Given the description of an element on the screen output the (x, y) to click on. 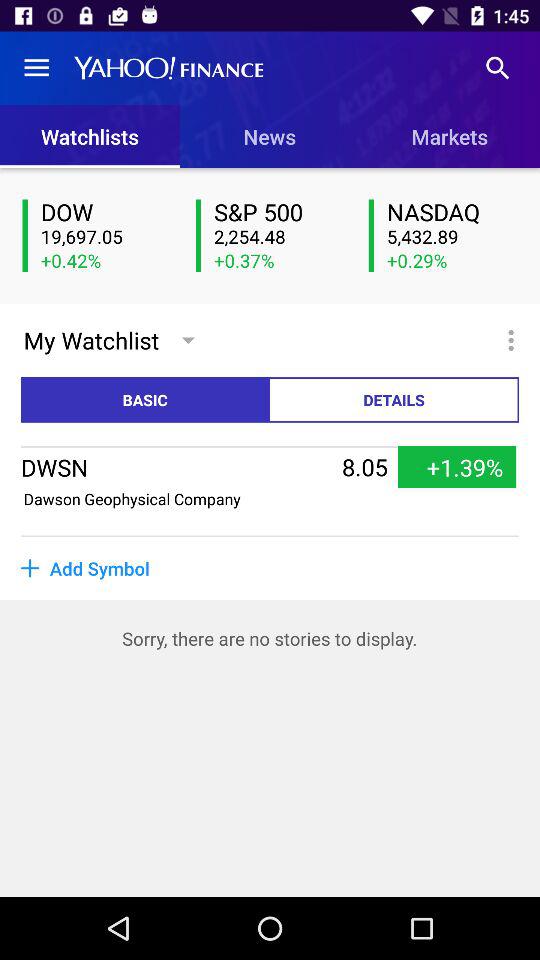
tap icon below the s&p 500 item (279, 237)
